Given the description of an element on the screen output the (x, y) to click on. 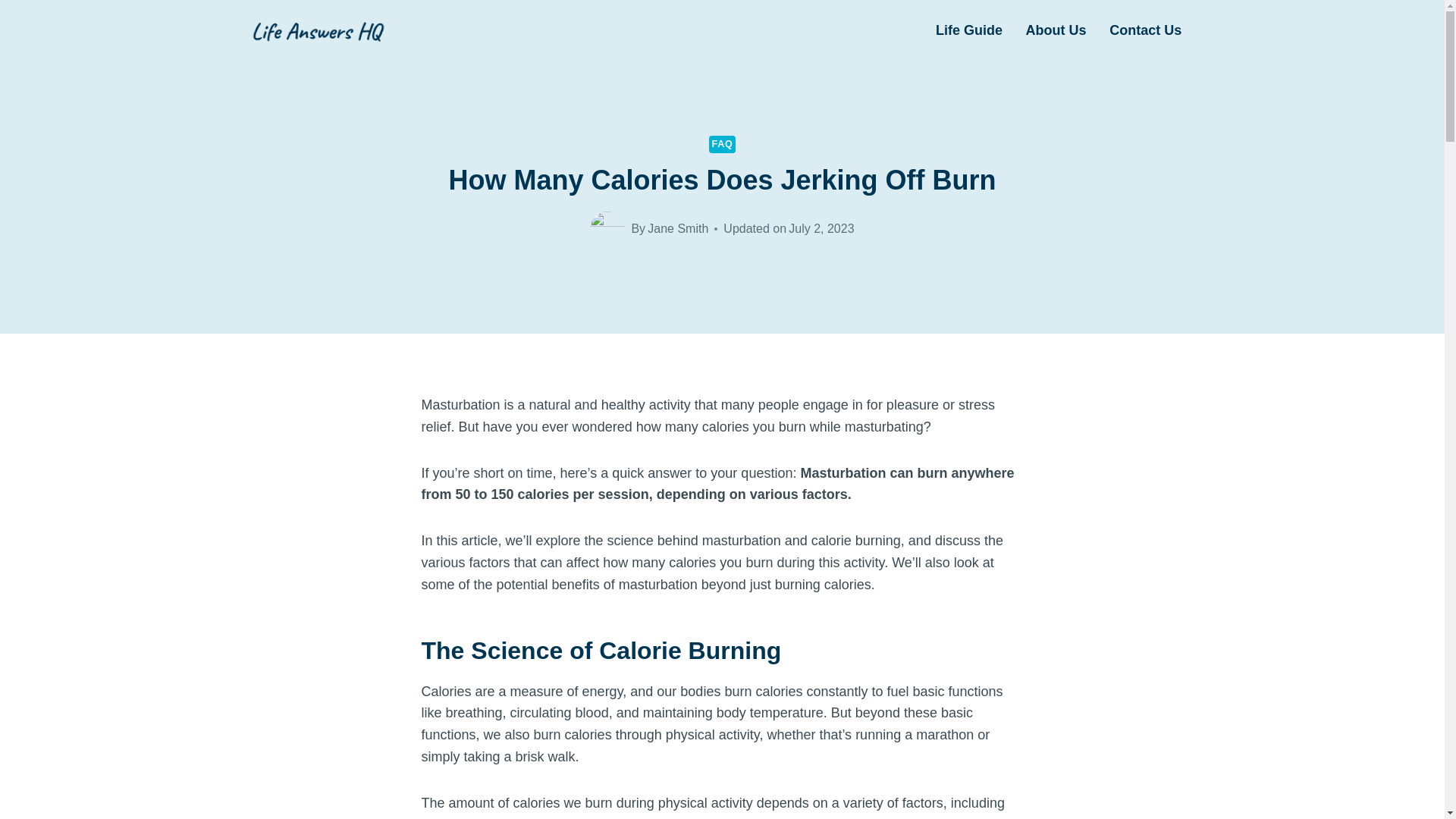
About Us (1055, 30)
Contact Us (1145, 30)
Life Guide (969, 30)
Jane Smith (677, 228)
FAQ (722, 144)
